Given the description of an element on the screen output the (x, y) to click on. 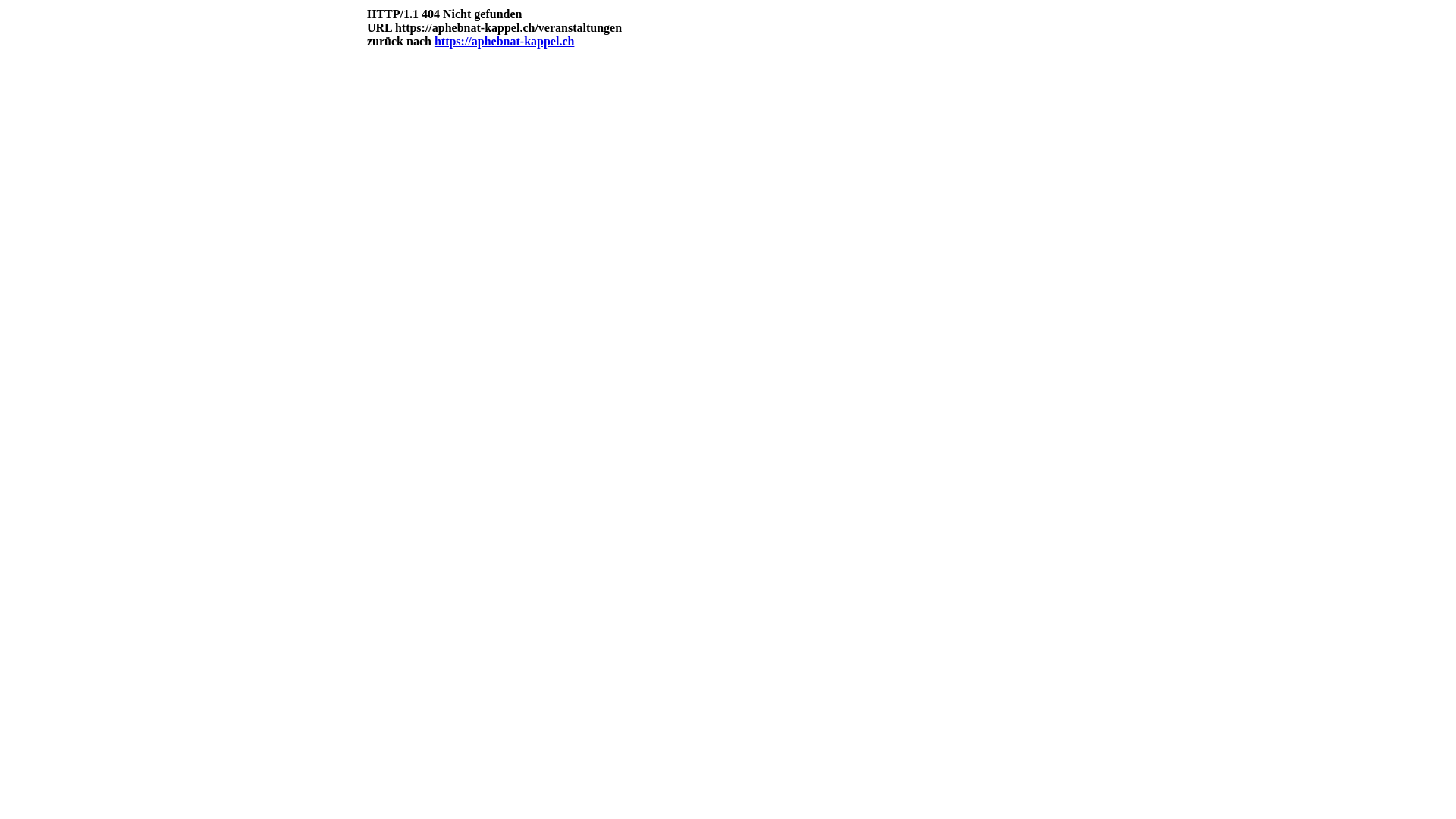
https://aphebnat-kappel.ch Element type: text (504, 40)
